Given the description of an element on the screen output the (x, y) to click on. 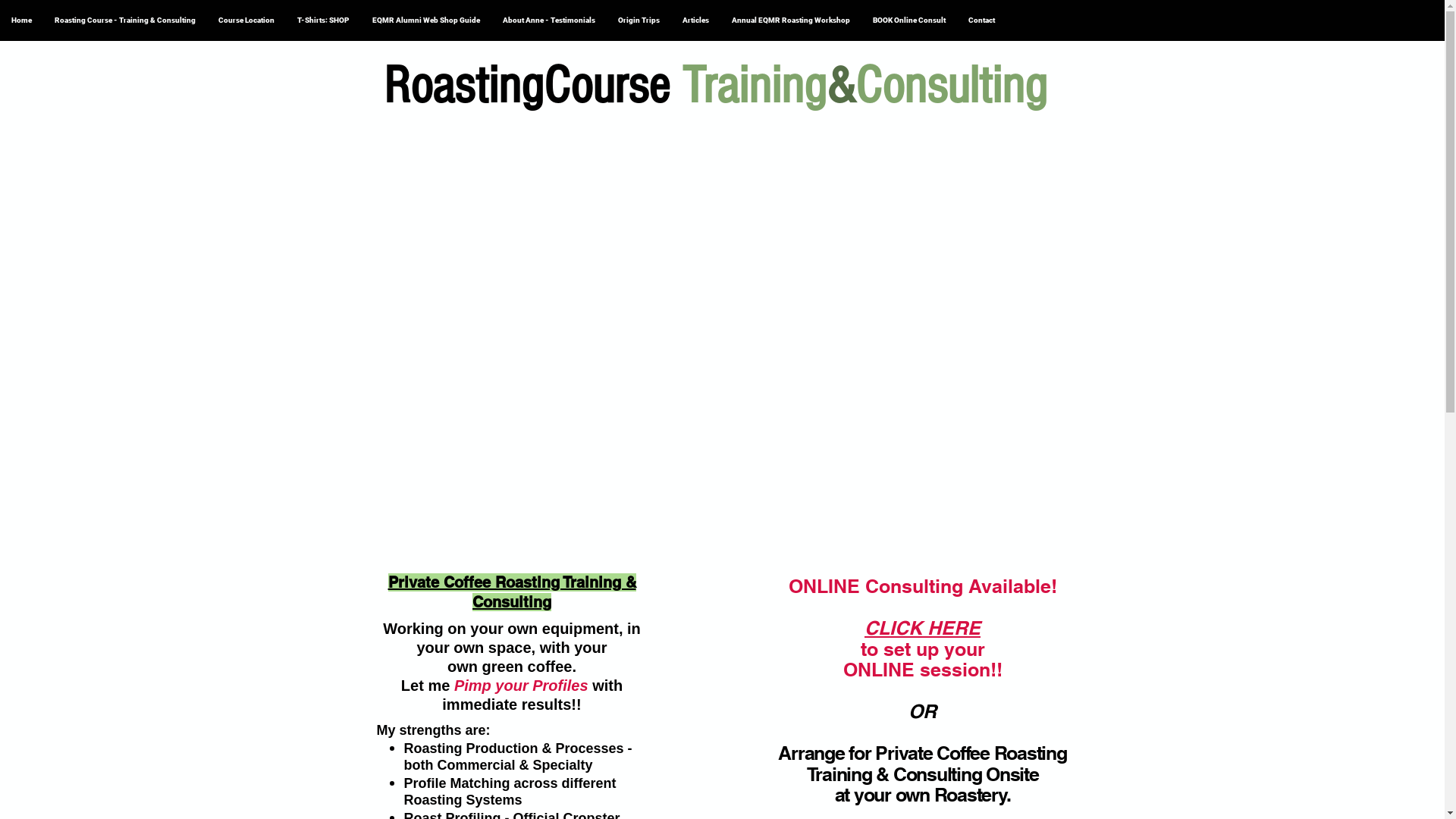
Origin Trips Element type: text (638, 20)
T-Shirts: SHOP Element type: text (322, 20)
Annual EQMR Roasting Workshop Element type: text (790, 20)
Roasting Course - Training & Consulting Element type: text (125, 20)
About Anne - Testimonials Element type: text (548, 20)
CLICK HERE Element type: text (922, 627)
BOOK Online Consult Element type: text (909, 20)
Contact Element type: text (981, 20)
Course Location Element type: text (246, 20)
Articles Element type: text (695, 20)
Home Element type: text (21, 20)
EQMR Alumni Web Shop Guide Element type: text (425, 20)
